Given the description of an element on the screen output the (x, y) to click on. 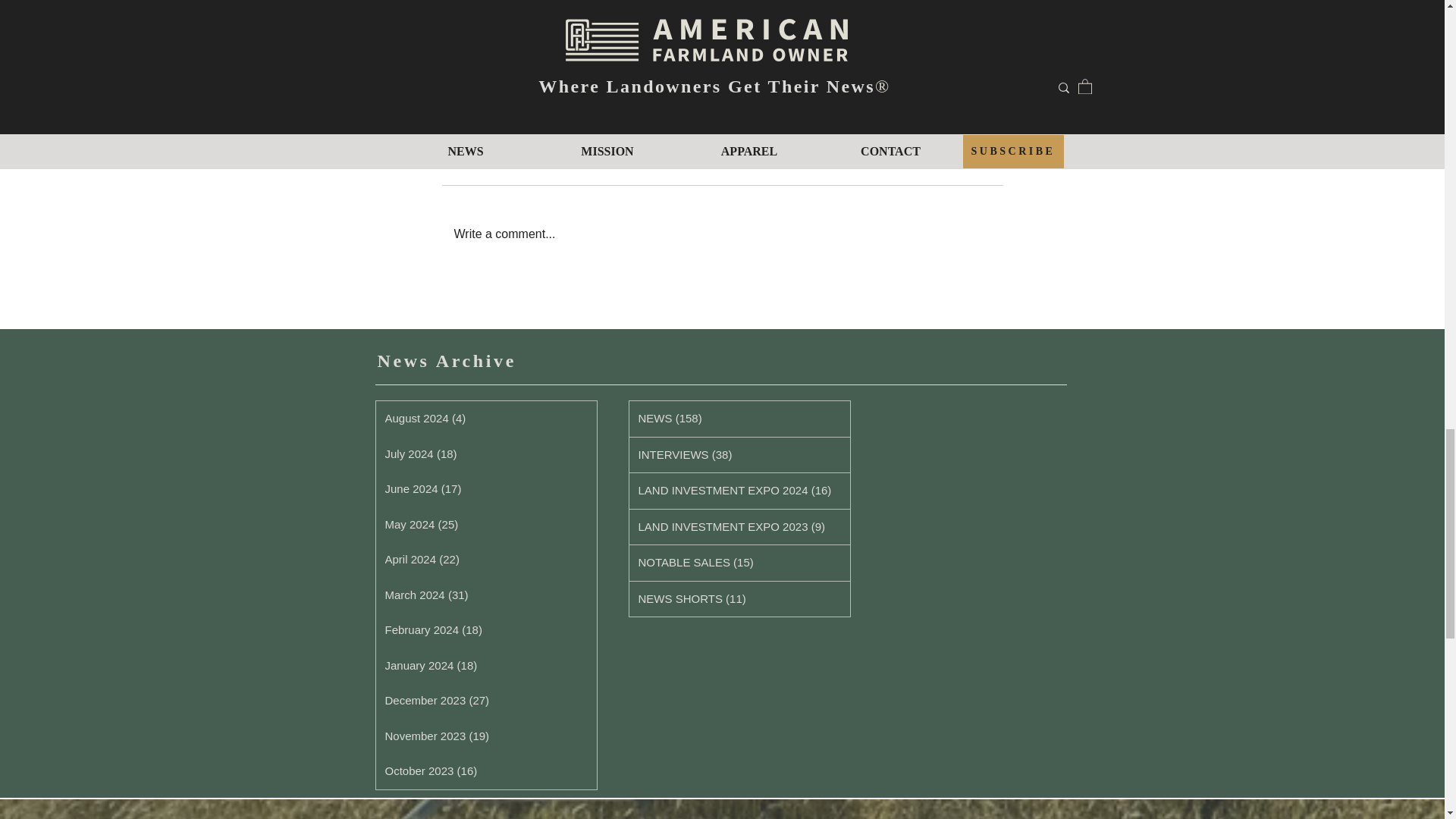
Animal Cruelty Concerns vs Producer Hardship (720, 68)
Economic Signals (475, 59)
RIP, DEI (966, 59)
Write a comment... (722, 233)
